Given the description of an element on the screen output the (x, y) to click on. 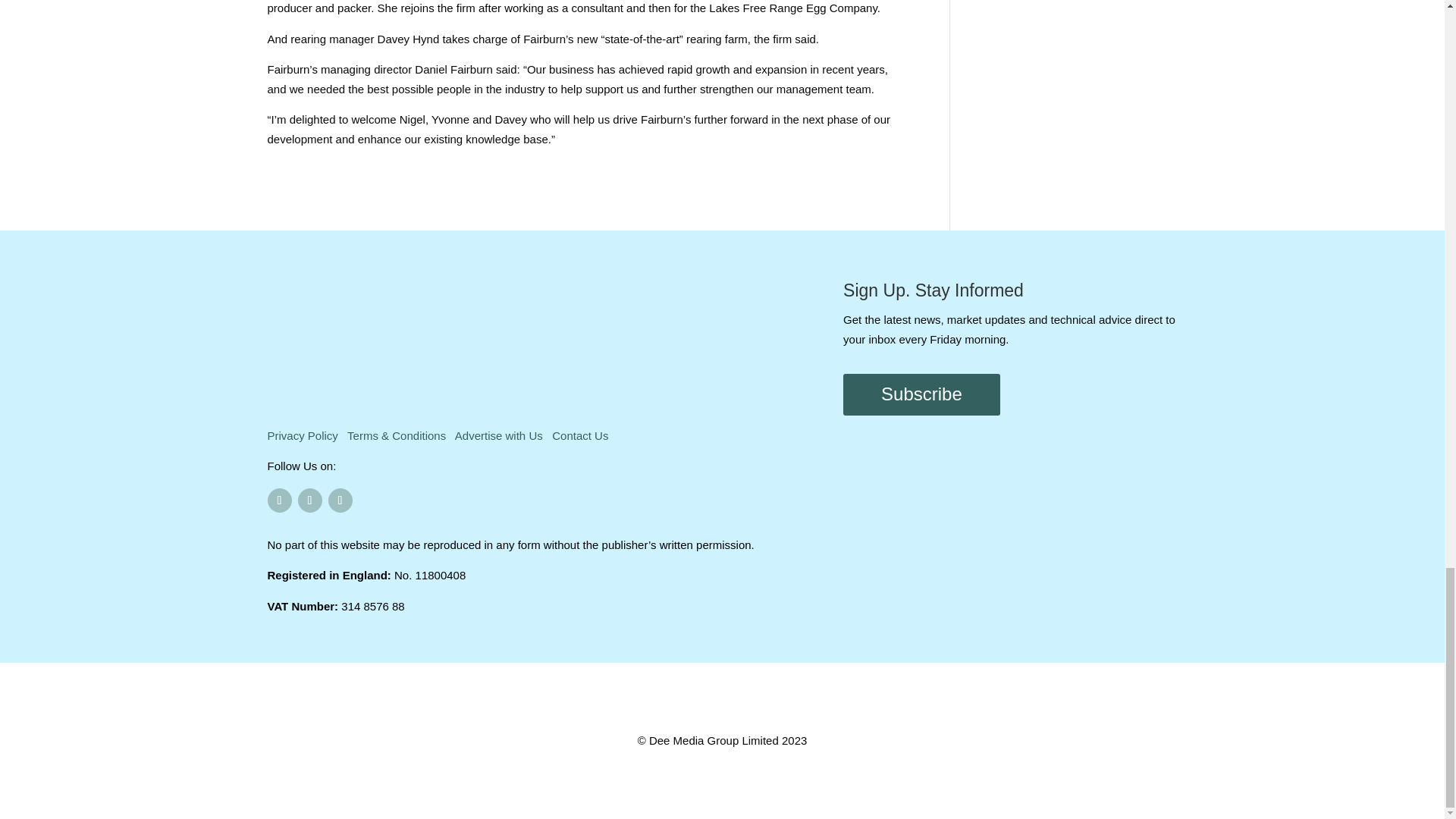
Advertise with Us (498, 435)
Subscribe (921, 394)
Contact Us (579, 435)
Follow on Twitter (309, 500)
Privacy Policy (301, 435)
Follow on LinkedIn (339, 500)
Follow on Facebook (278, 500)
